Given the description of an element on the screen output the (x, y) to click on. 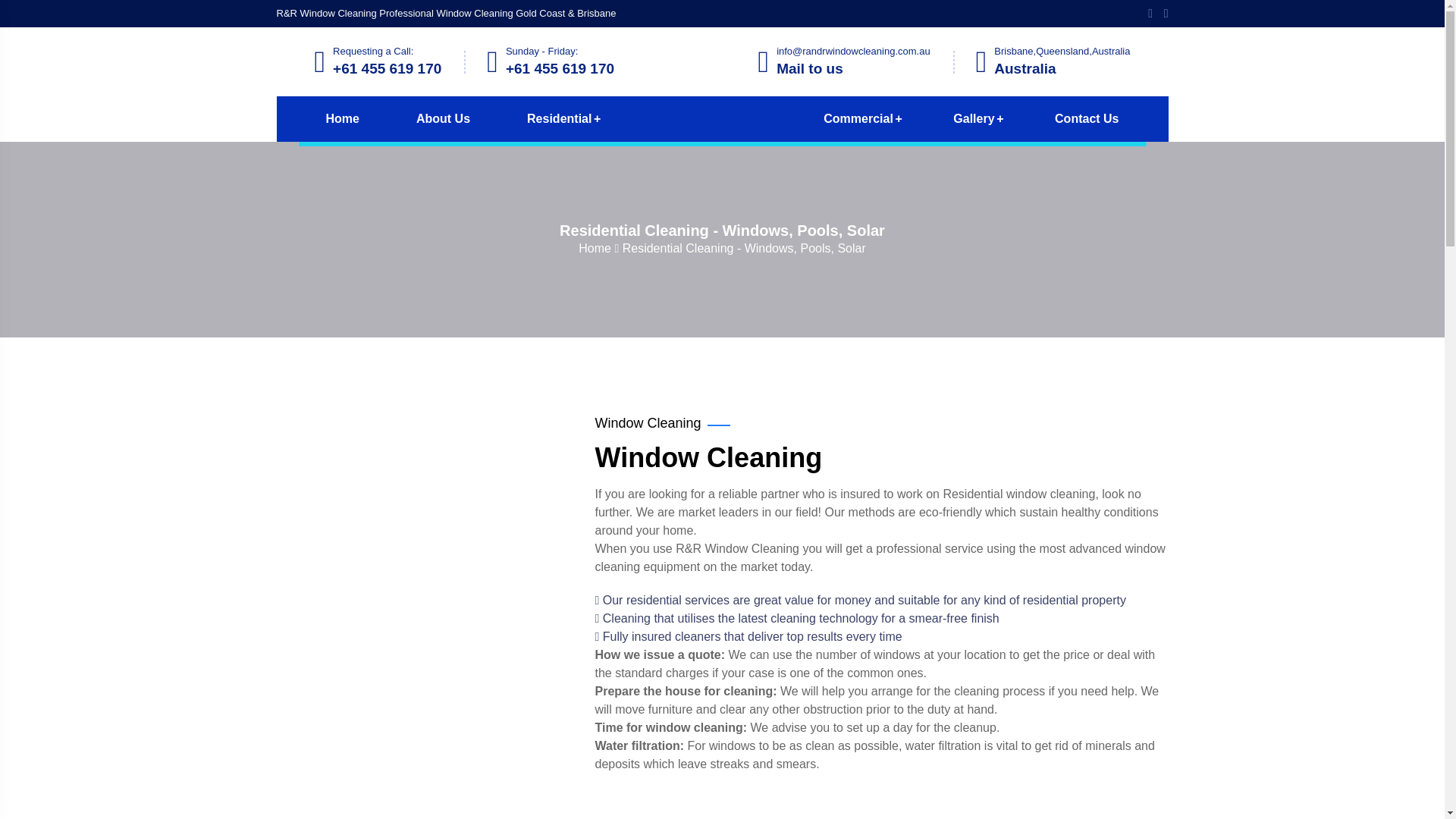
Residential (559, 118)
Home (598, 247)
About Us (443, 118)
Gallery (973, 118)
Contact Us (1086, 118)
Home (341, 118)
Commercial (858, 118)
